Given the description of an element on the screen output the (x, y) to click on. 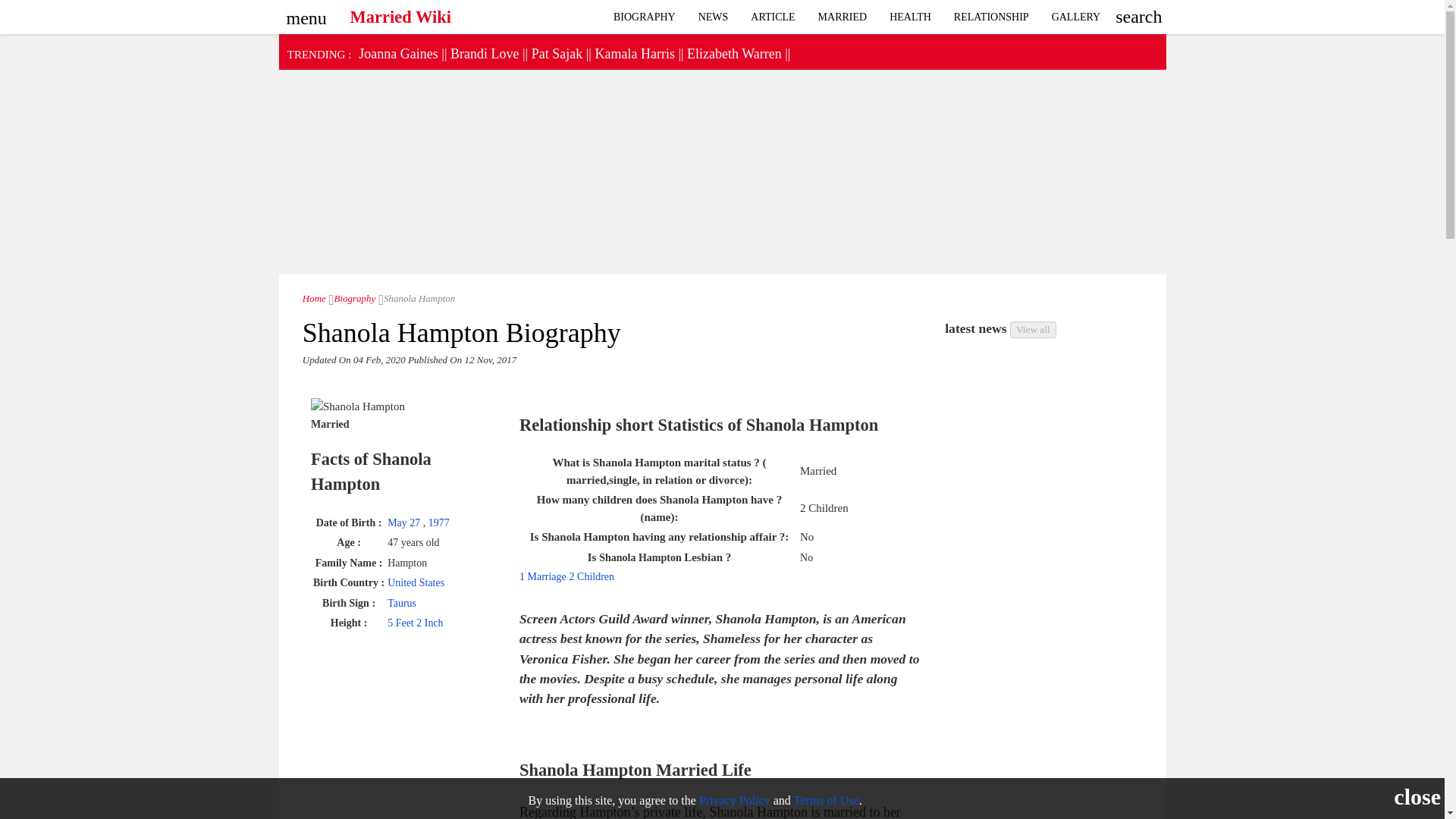
relationship (1076, 17)
Pat Sajak (557, 53)
Kamala Harris (634, 53)
Married Wiki (400, 13)
RELATIONSHIP (991, 17)
1977 (438, 522)
Biography (644, 17)
Brandi Love (483, 53)
Elizabeth Warren (734, 53)
United States (415, 582)
married (842, 17)
May 27 (405, 522)
2 Children (591, 576)
ARTICLE (772, 17)
5 Feet 2 Inch (414, 622)
